Given the description of an element on the screen output the (x, y) to click on. 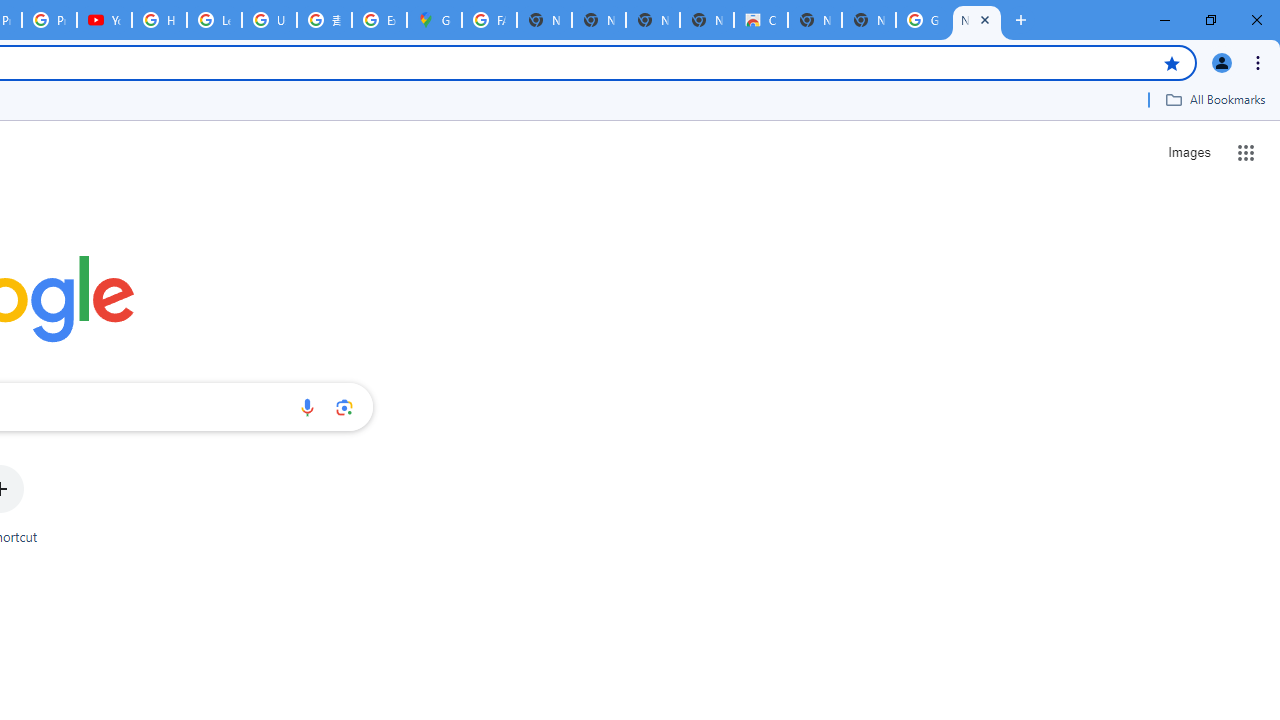
Chrome Web Store (760, 20)
Google Maps (434, 20)
YouTube (103, 20)
Explore new street-level details - Google Maps Help (379, 20)
New Tab (976, 20)
Search by voice (307, 407)
How Chrome protects your passwords - Google Chrome Help (158, 20)
New Tab (868, 20)
